Given the description of an element on the screen output the (x, y) to click on. 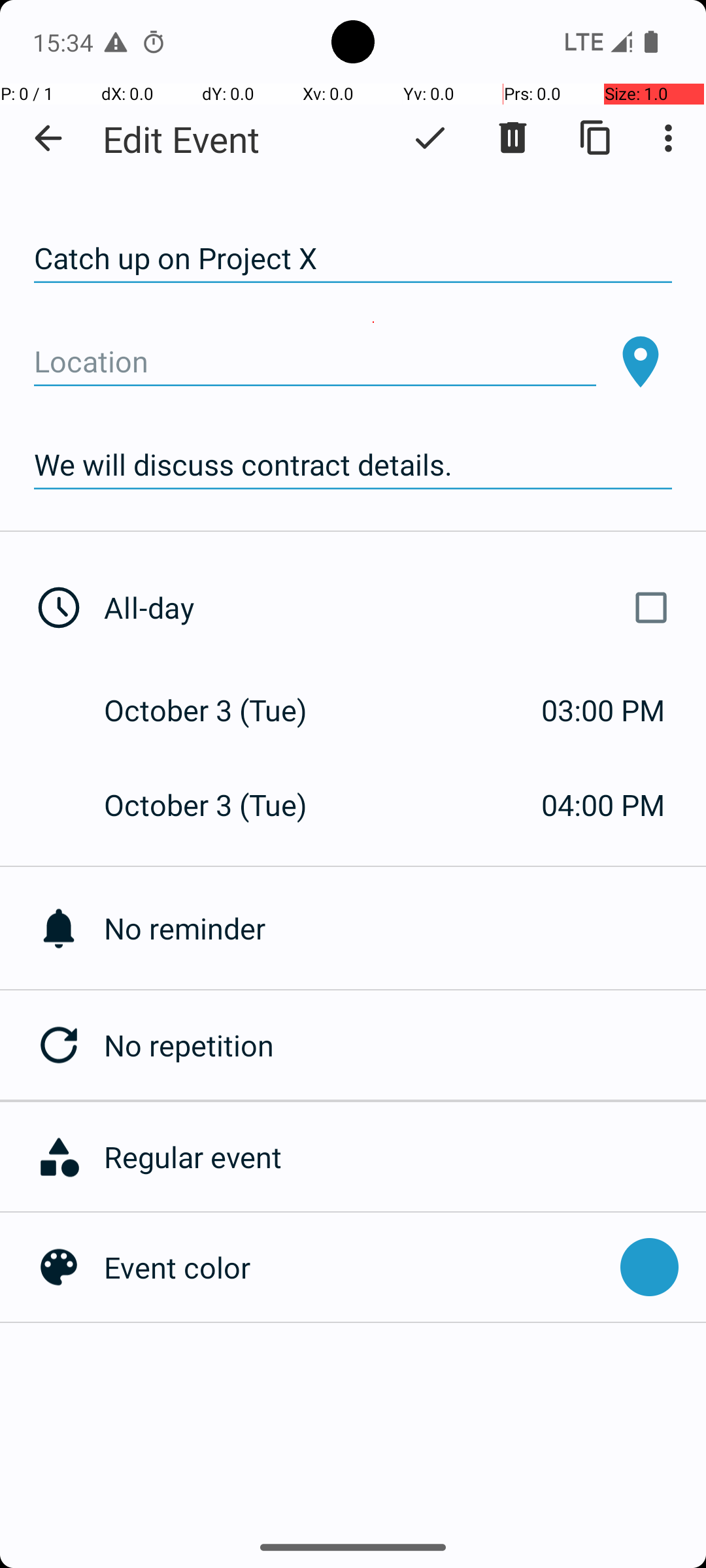
Edit Event Element type: android.widget.TextView (181, 138)
Duplicate event Element type: android.widget.Button (595, 137)
Catch up on Project X Element type: android.widget.EditText (352, 258)
Location Element type: android.widget.EditText (314, 361)
We will discuss contract details. Element type: android.widget.EditText (352, 465)
October 3 (Tue) Element type: android.widget.TextView (219, 709)
03:00 PM Element type: android.widget.TextView (602, 709)
04:00 PM Element type: android.widget.TextView (602, 804)
No reminder Element type: android.widget.TextView (404, 927)
No repetition Element type: android.widget.TextView (404, 1044)
All-day Element type: android.widget.CheckBox (390, 607)
Regular event Element type: android.widget.TextView (397, 1156)
Event color Element type: android.widget.TextView (354, 1266)
